Given the description of an element on the screen output the (x, y) to click on. 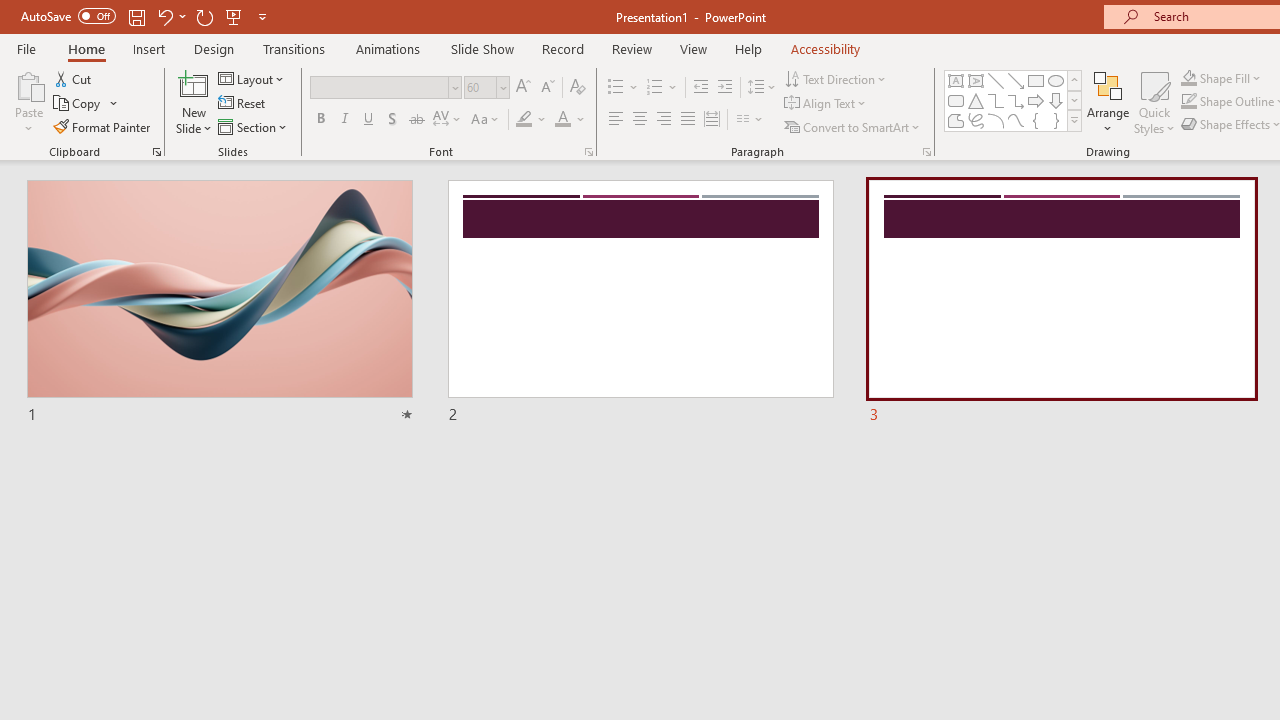
Bold (320, 119)
Arrange (1108, 102)
Format Painter (103, 126)
Font Color Red (562, 119)
Clear Formatting (577, 87)
Line Spacing (762, 87)
Shape Fill Orange, Accent 2 (1188, 78)
